Given the description of an element on the screen output the (x, y) to click on. 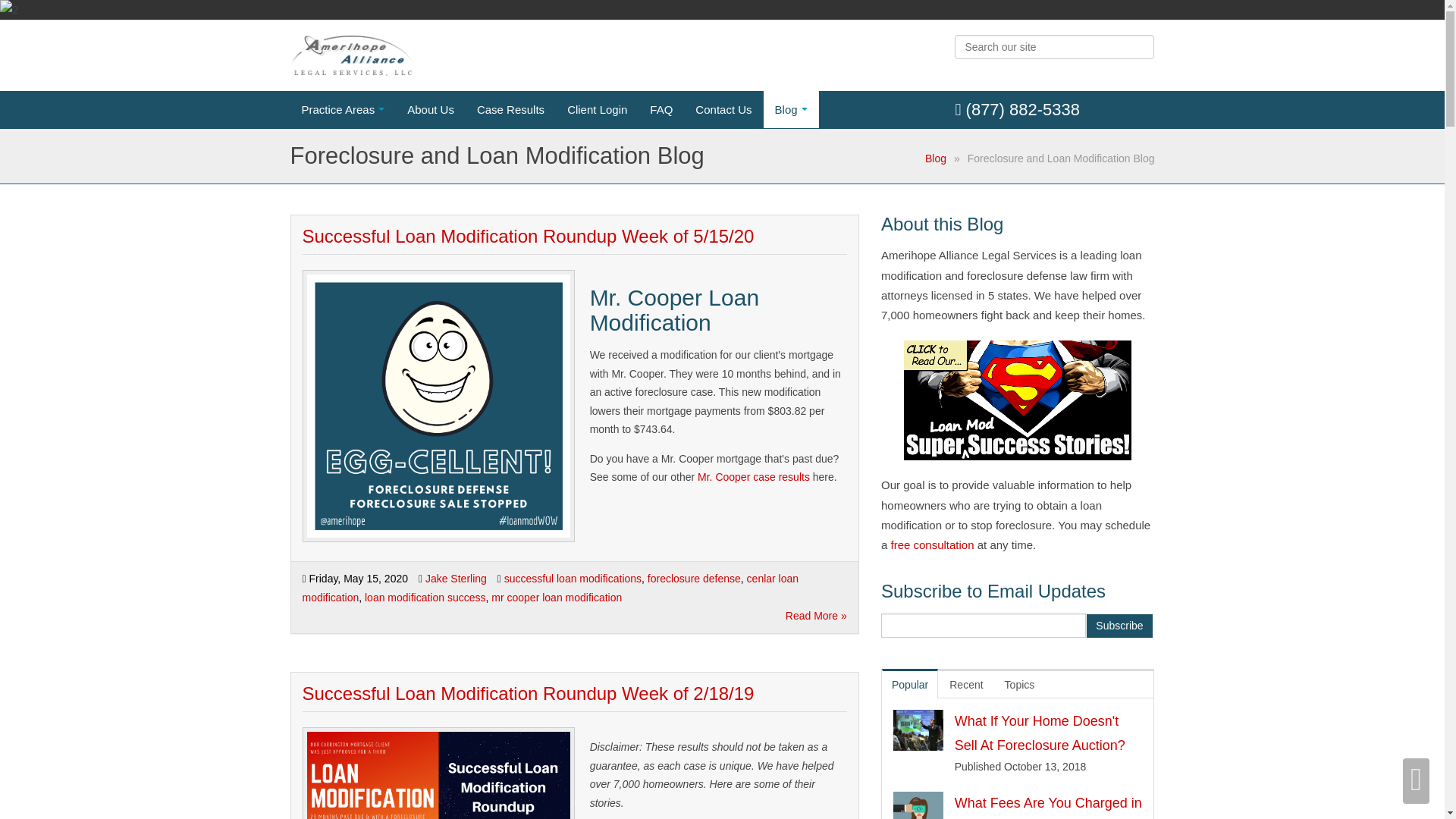
Blog (790, 108)
Blog (935, 158)
Mr. Cooper case results (753, 476)
Jake Sterling (455, 578)
loan modification success (425, 597)
mr cooper loan modification (556, 597)
Foreclosure and Loan Modification Lawyers (351, 55)
Case Results (510, 108)
foreclosure defense (694, 578)
FAQ (661, 108)
